Given the description of an element on the screen output the (x, y) to click on. 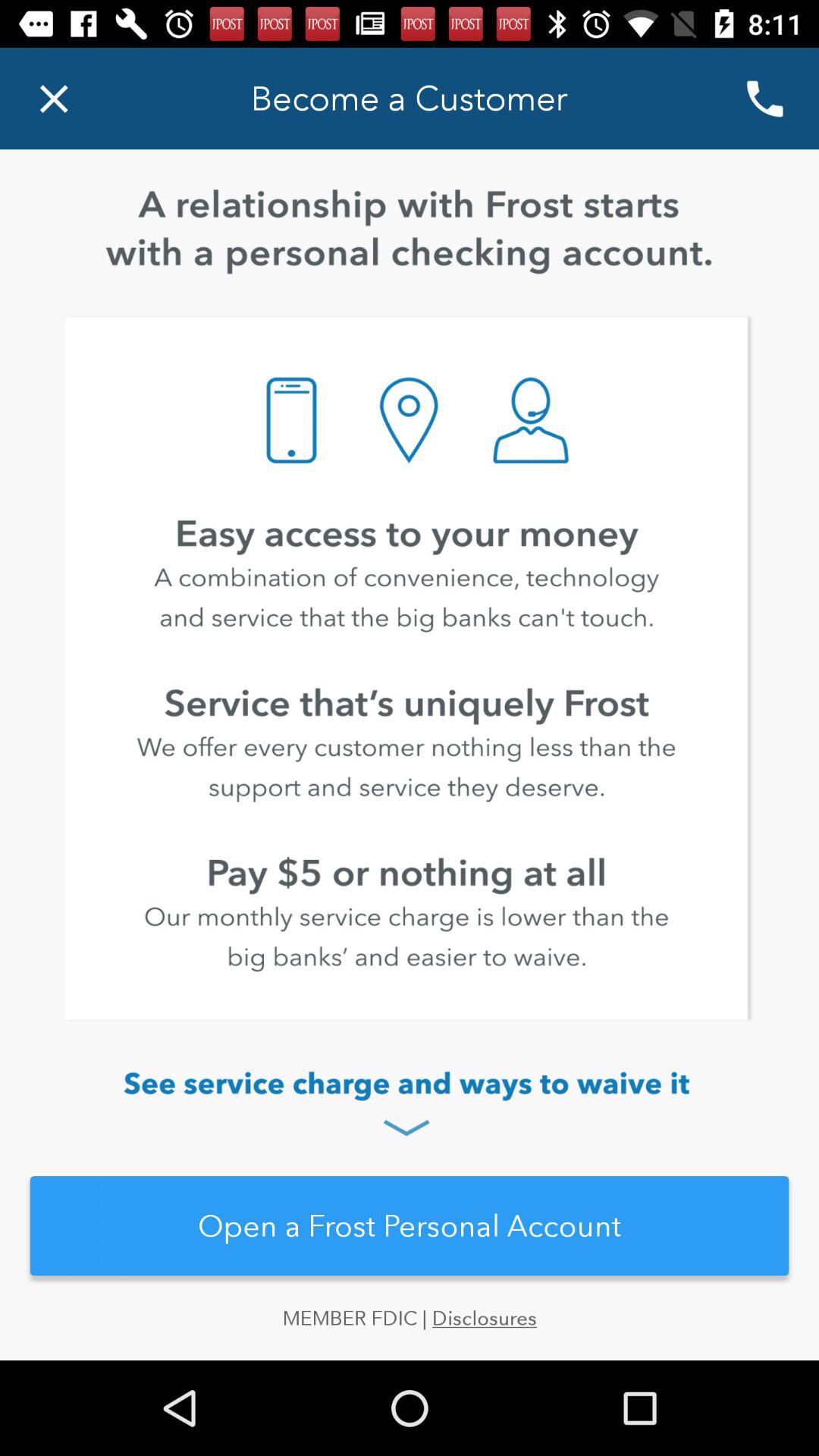
choose the member fdic | disclosures icon (409, 1332)
